Given the description of an element on the screen output the (x, y) to click on. 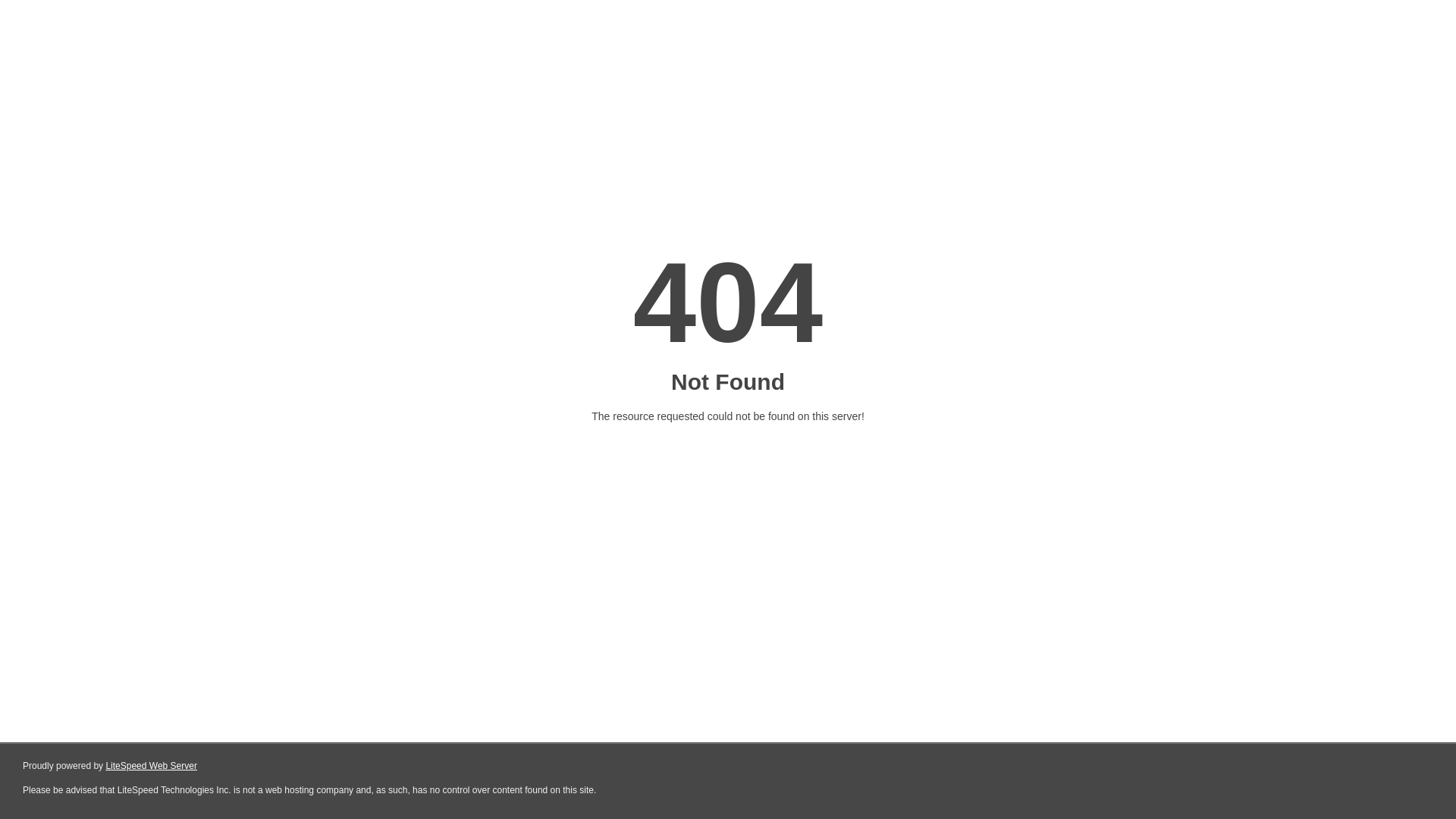
LiteSpeed Web Server Element type: text (151, 765)
